Given the description of an element on the screen output the (x, y) to click on. 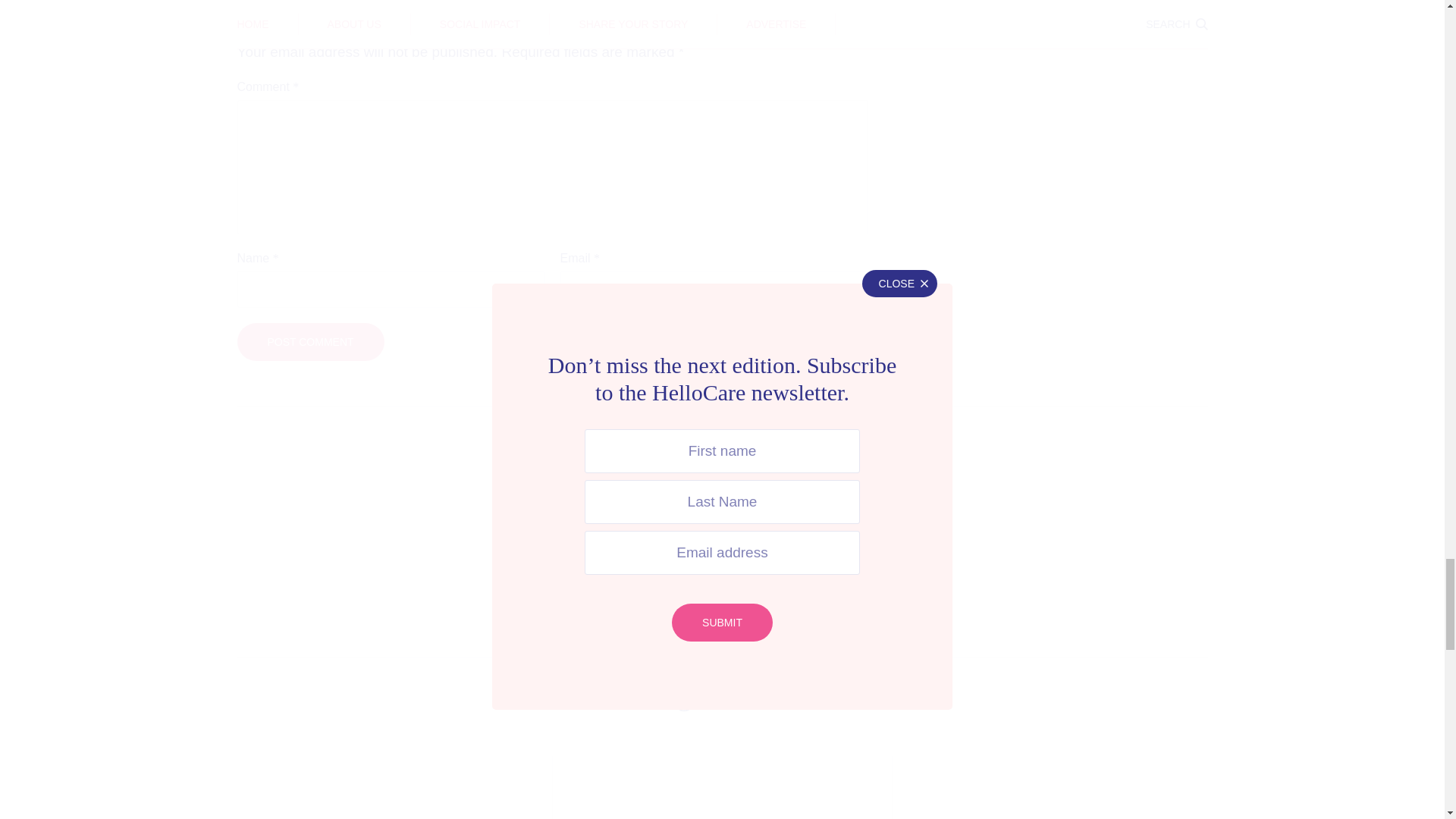
Post Comment (309, 341)
